Given the description of an element on the screen output the (x, y) to click on. 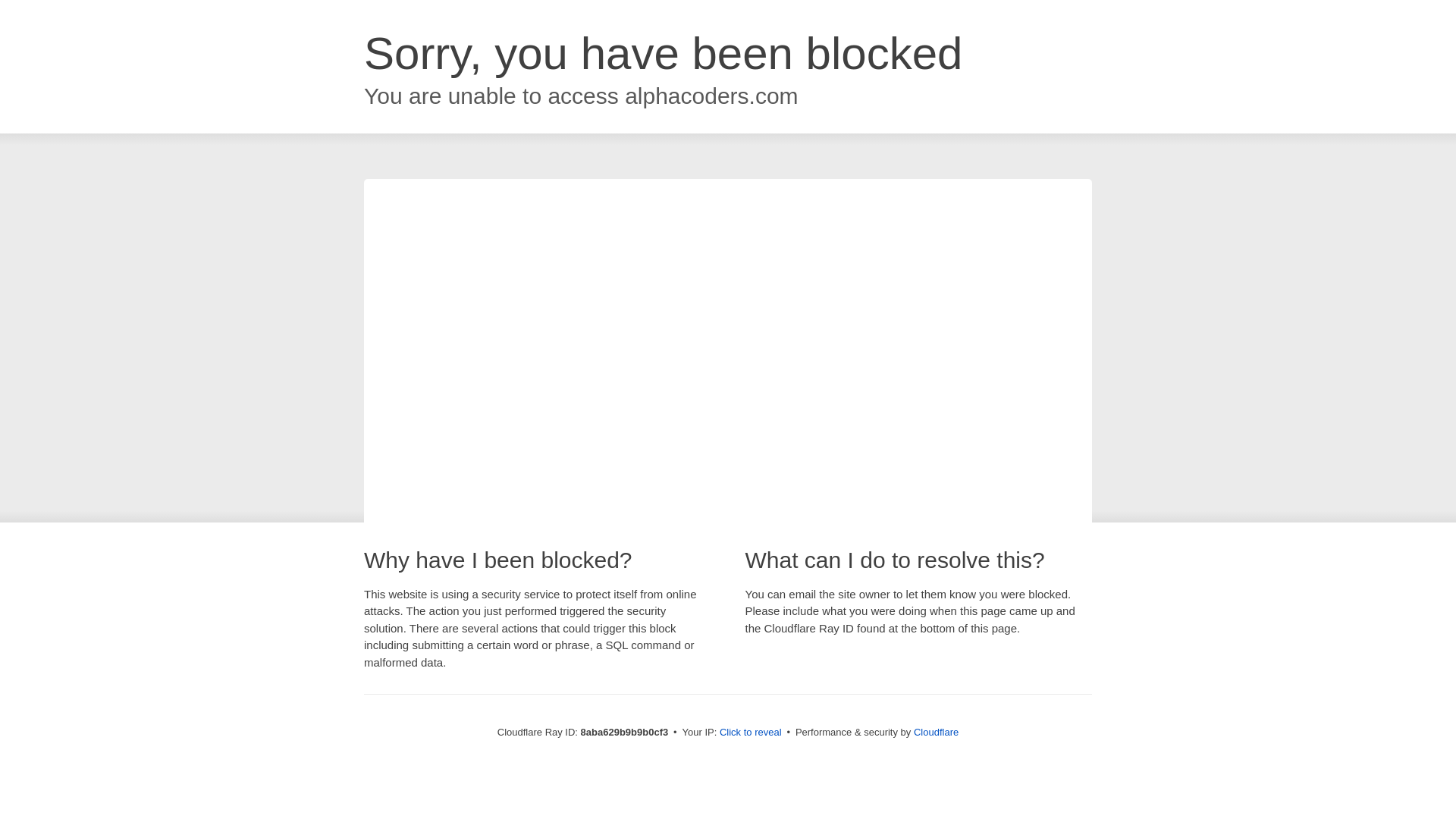
Cloudflare (936, 731)
Click to reveal (750, 732)
